Given the description of an element on the screen output the (x, y) to click on. 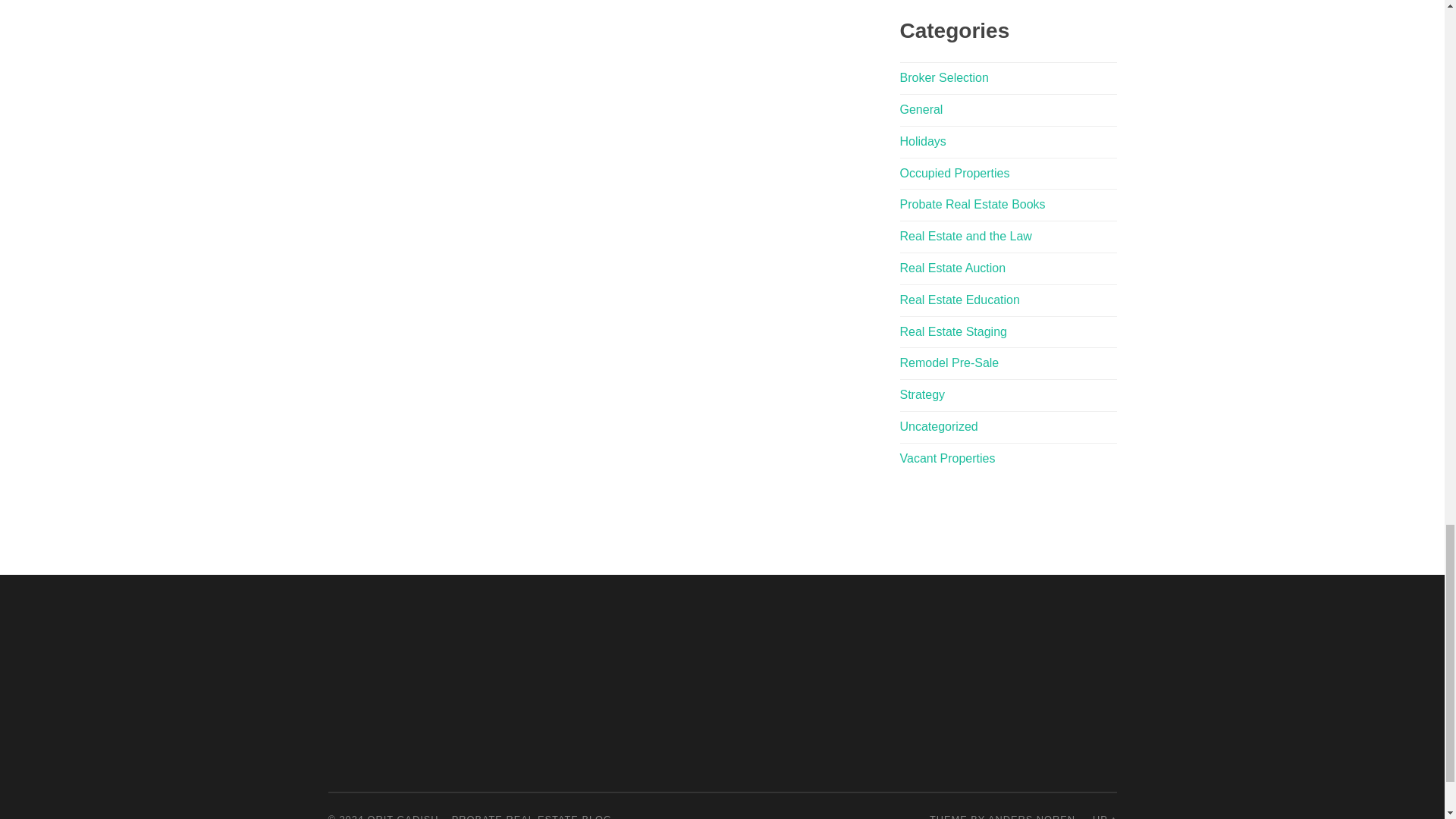
Real Estate and the Law (964, 236)
Holidays (921, 141)
Broker Selection (943, 77)
Real Estate Auction (952, 267)
To the top (1104, 816)
General (920, 109)
Probate Real Estate Books (972, 204)
Occupied Properties (954, 173)
